Given the description of an element on the screen output the (x, y) to click on. 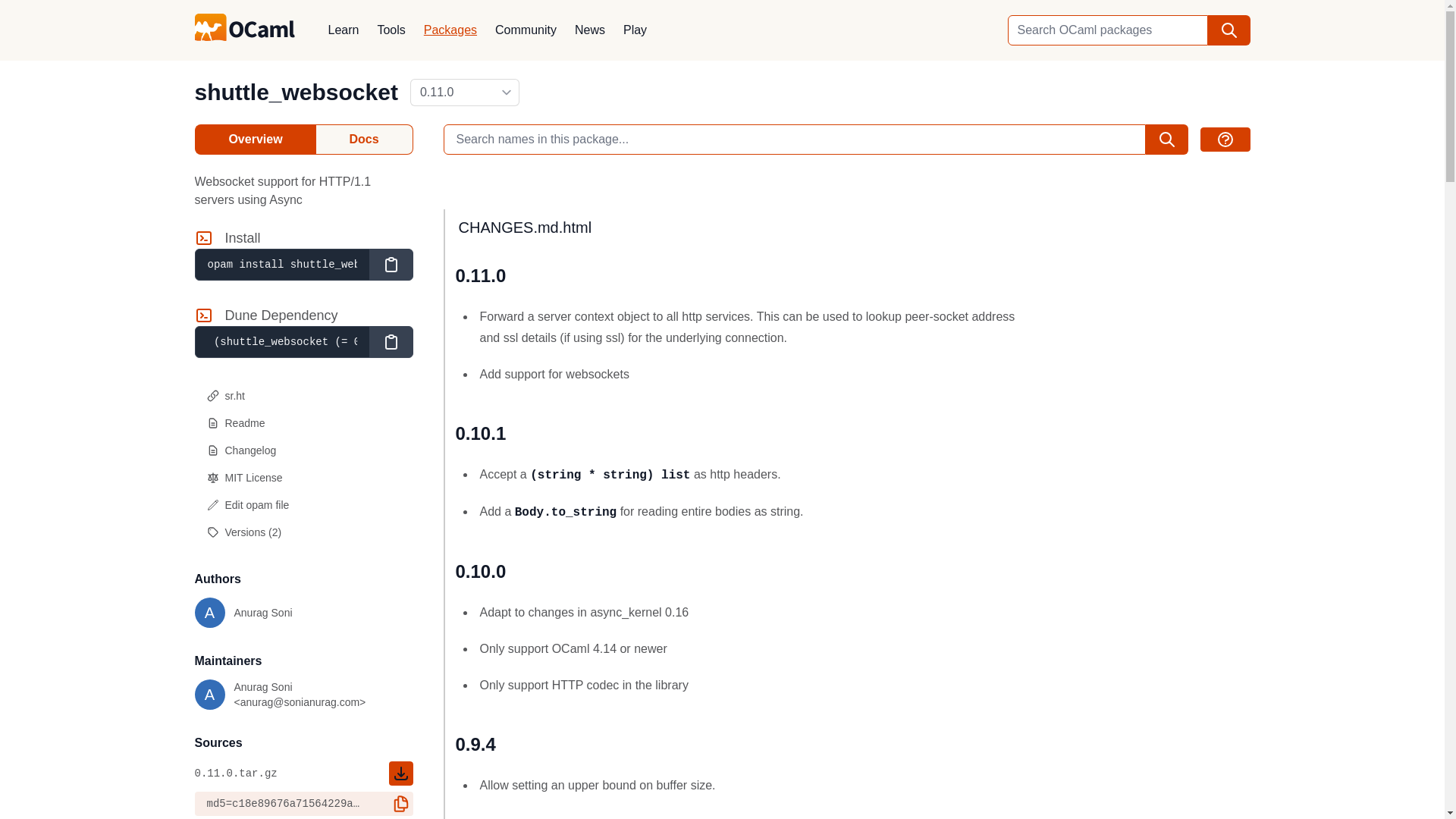
sr.ht (302, 395)
Community (526, 30)
Readme (302, 422)
Copy to clipboard (390, 264)
Changelog (302, 450)
Tools (390, 30)
Learn (242, 612)
Packages (343, 30)
MIT License (450, 30)
Docs (302, 477)
show search instructions (364, 139)
Edit opam file (1224, 139)
Overview (302, 504)
News (254, 139)
